Given the description of an element on the screen output the (x, y) to click on. 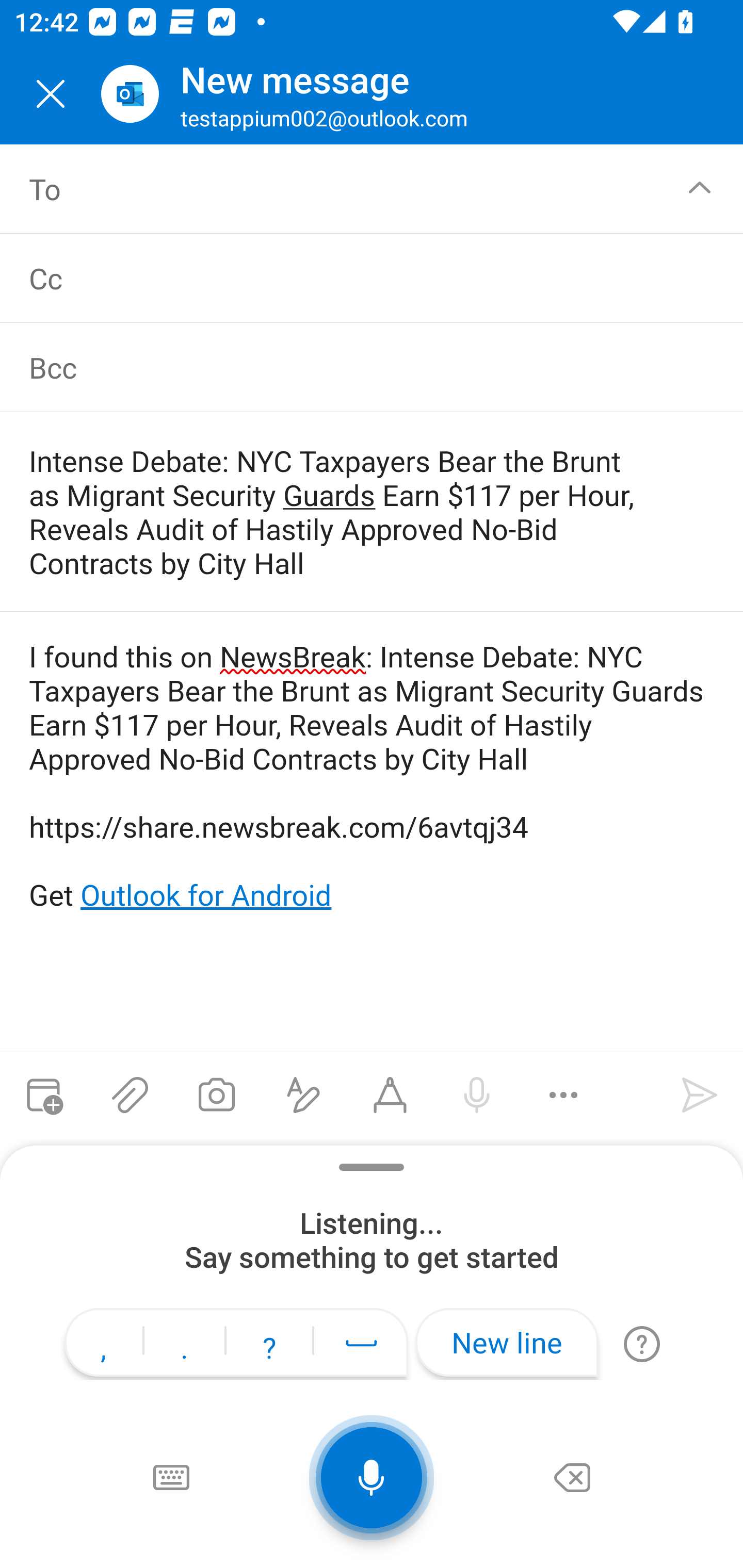
Close (50, 93)
Attach meeting (43, 1095)
Attach files (129, 1095)
Take a photo (216, 1095)
Show formatting options (303, 1095)
Start Ink compose (389, 1095)
More options (563, 1095)
Send (699, 1095)
  Insert Space button (360, 1341)
New line new line button (506, 1341)
Help (641, 1343)
, Comma button (103, 1344)
. Period button (184, 1344)
? Question mark button (269, 1344)
Microphone (371, 1477)
switch to alphanumeric keyboard (170, 1477)
backspace (572, 1477)
